Given the description of an element on the screen output the (x, y) to click on. 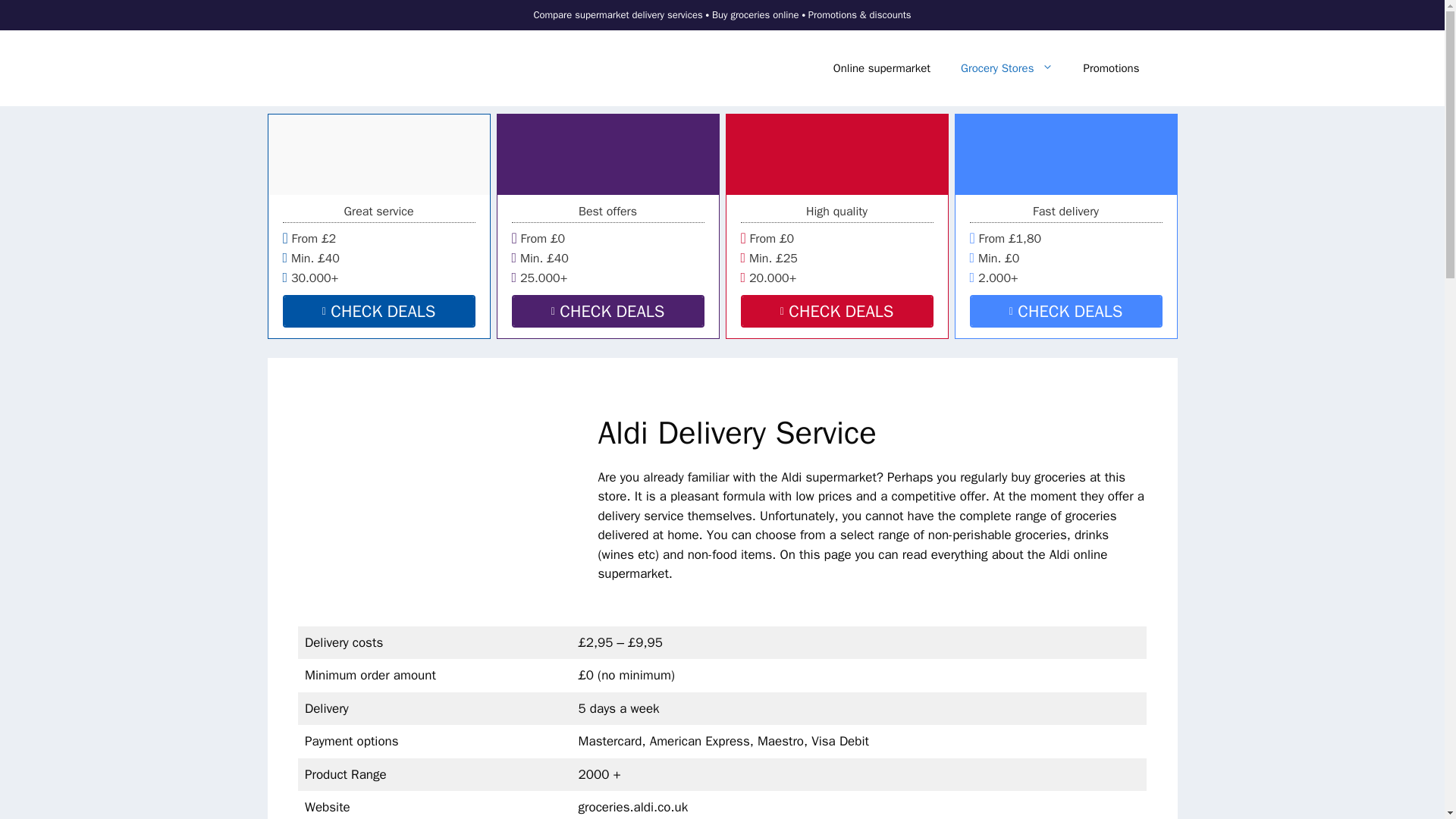
CHECK DEALS (607, 311)
Promotions (1110, 67)
Online grocery stores (357, 68)
CHECK DEALS (1065, 311)
Online supermarket (881, 67)
Grocery Stores (1005, 67)
CHECK DEALS (836, 311)
CHECK DEALS (378, 311)
Online grocery stores (357, 66)
